Given the description of an element on the screen output the (x, y) to click on. 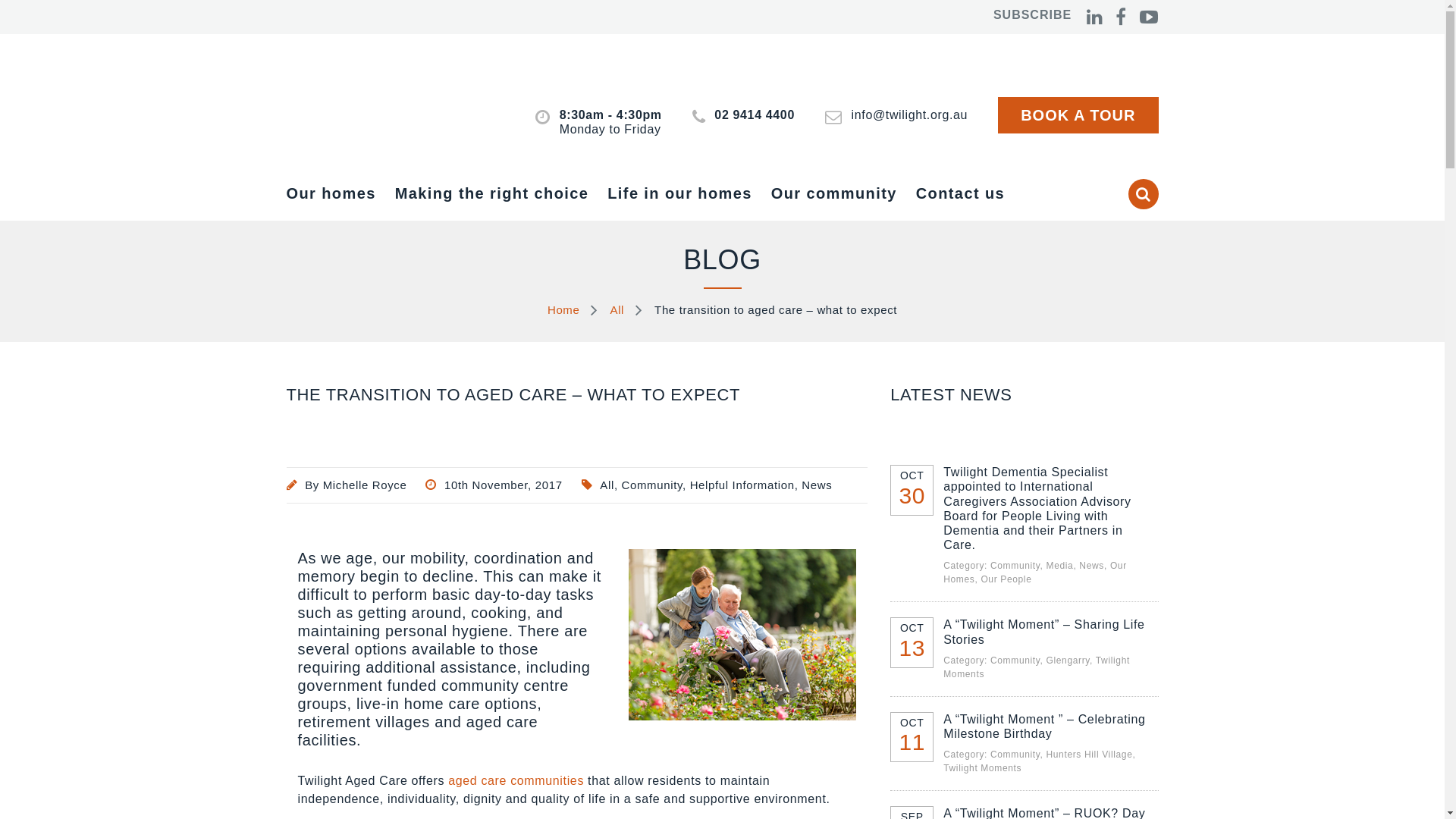
News Element type: text (816, 484)
News Element type: text (1091, 565)
Life in our homes Element type: text (688, 193)
Media Element type: text (1059, 565)
Making the right choice Element type: text (501, 193)
All Element type: text (616, 309)
BOOK A TOUR Element type: text (1077, 115)
Our homes Element type: text (340, 193)
All Element type: text (606, 484)
aged care communities Element type: text (515, 780)
Hunters Hill Village Element type: text (1089, 754)
Michelle Royce Element type: text (365, 484)
Our People Element type: text (1005, 579)
Glengarry Element type: text (1068, 660)
several options Element type: text (351, 648)
Community Element type: text (652, 484)
Community Element type: text (1015, 754)
Community Element type: text (1015, 660)
Twilight Moments Element type: text (982, 767)
Home Element type: text (563, 309)
Our community Element type: text (843, 193)
Helpful Information Element type: text (742, 484)
Contact us Element type: text (969, 193)
Community Element type: text (1015, 565)
Twilight Moments Element type: text (1036, 667)
Our Homes Element type: text (1034, 572)
